Given the description of an element on the screen output the (x, y) to click on. 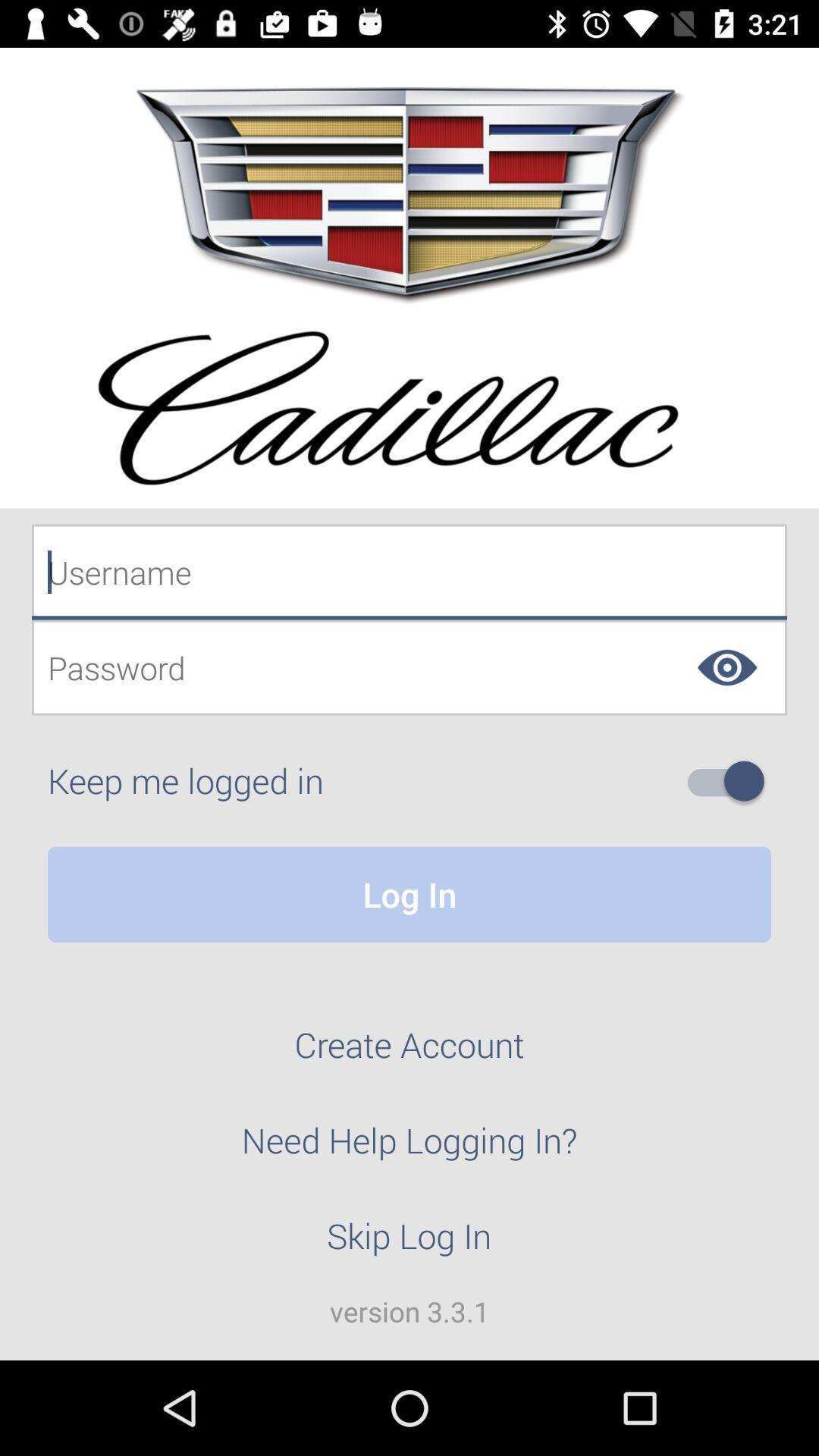
toggle keep me logged in (731, 781)
